Given the description of an element on the screen output the (x, y) to click on. 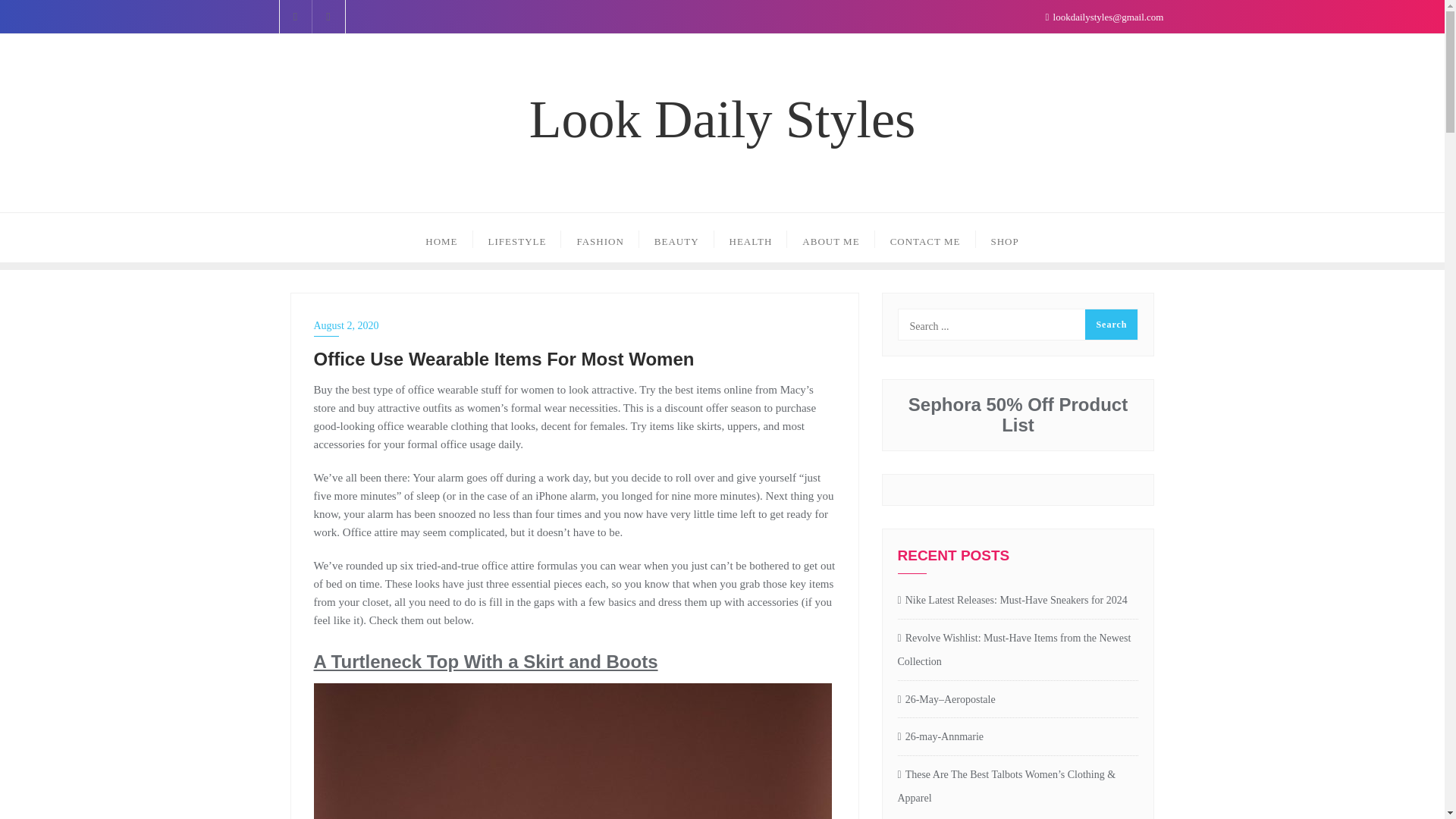
FASHION (599, 237)
HOME (440, 237)
LIFESTYLE (517, 237)
Search (1110, 324)
HEALTH (750, 237)
Search (1110, 324)
August 2, 2020 (574, 325)
Search (1110, 324)
CONTACT ME (925, 237)
Revolve Wishlist: Must-Have Items from the Newest Collection (1018, 650)
